Given the description of an element on the screen output the (x, y) to click on. 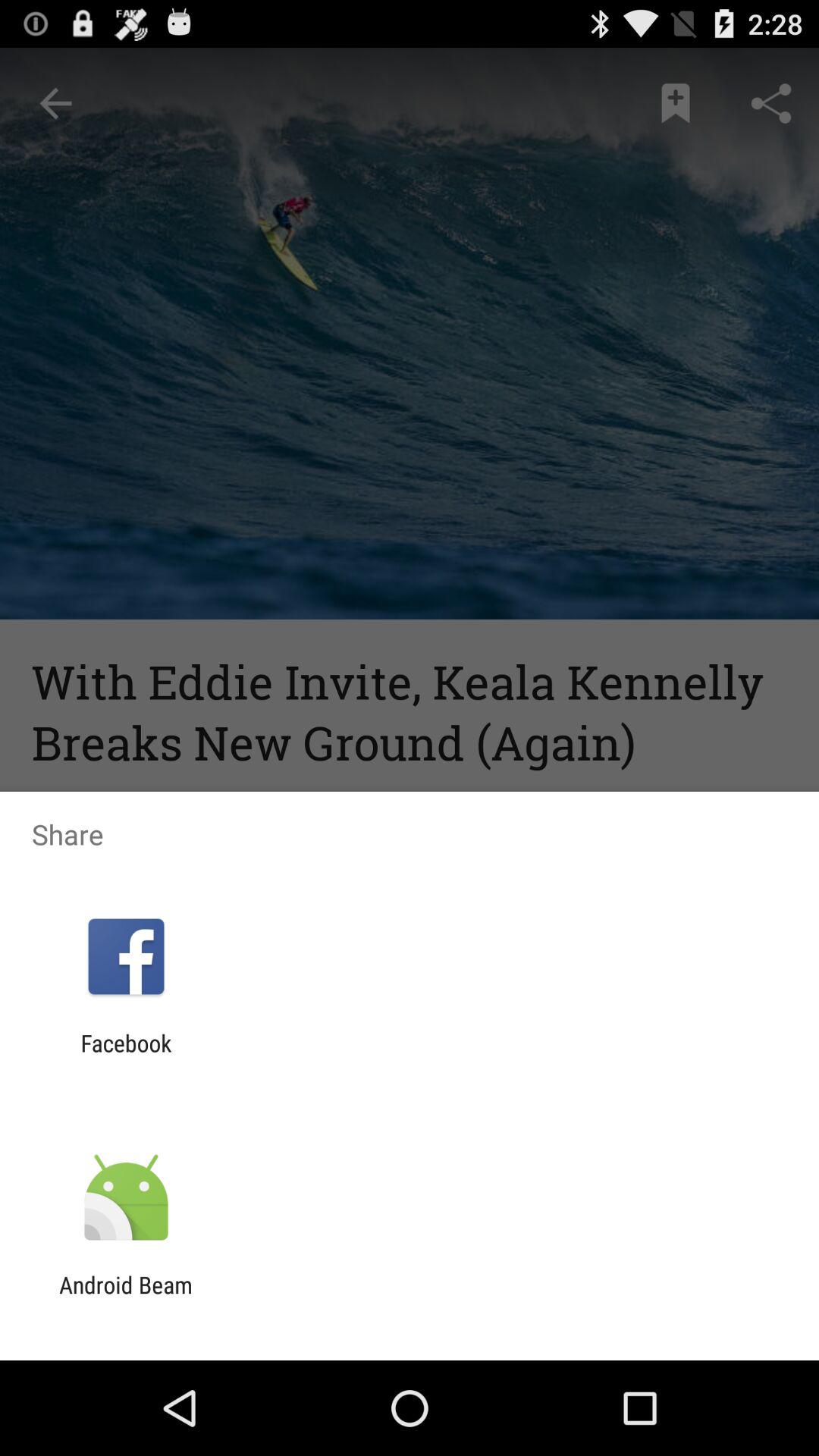
select the facebook item (125, 1056)
